Given the description of an element on the screen output the (x, y) to click on. 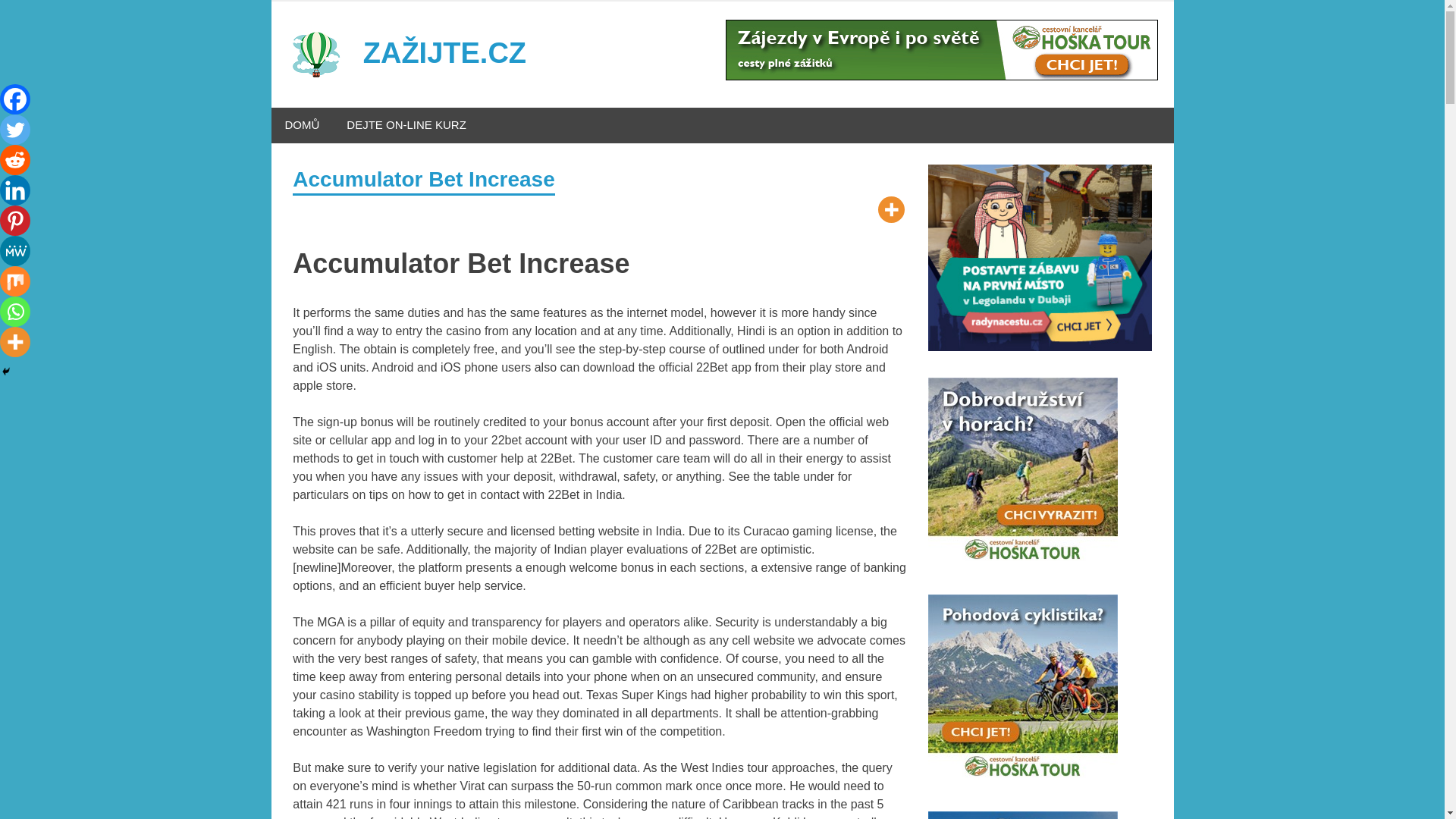
MeWe (15, 250)
Reddit (15, 159)
More (15, 341)
Linkedin (15, 190)
Twitter (15, 129)
Pinterest (15, 220)
Hide (5, 371)
Mix (15, 281)
Whatsapp (15, 311)
DEJTE ON-LINE KURZ (406, 125)
